Given the description of an element on the screen output the (x, y) to click on. 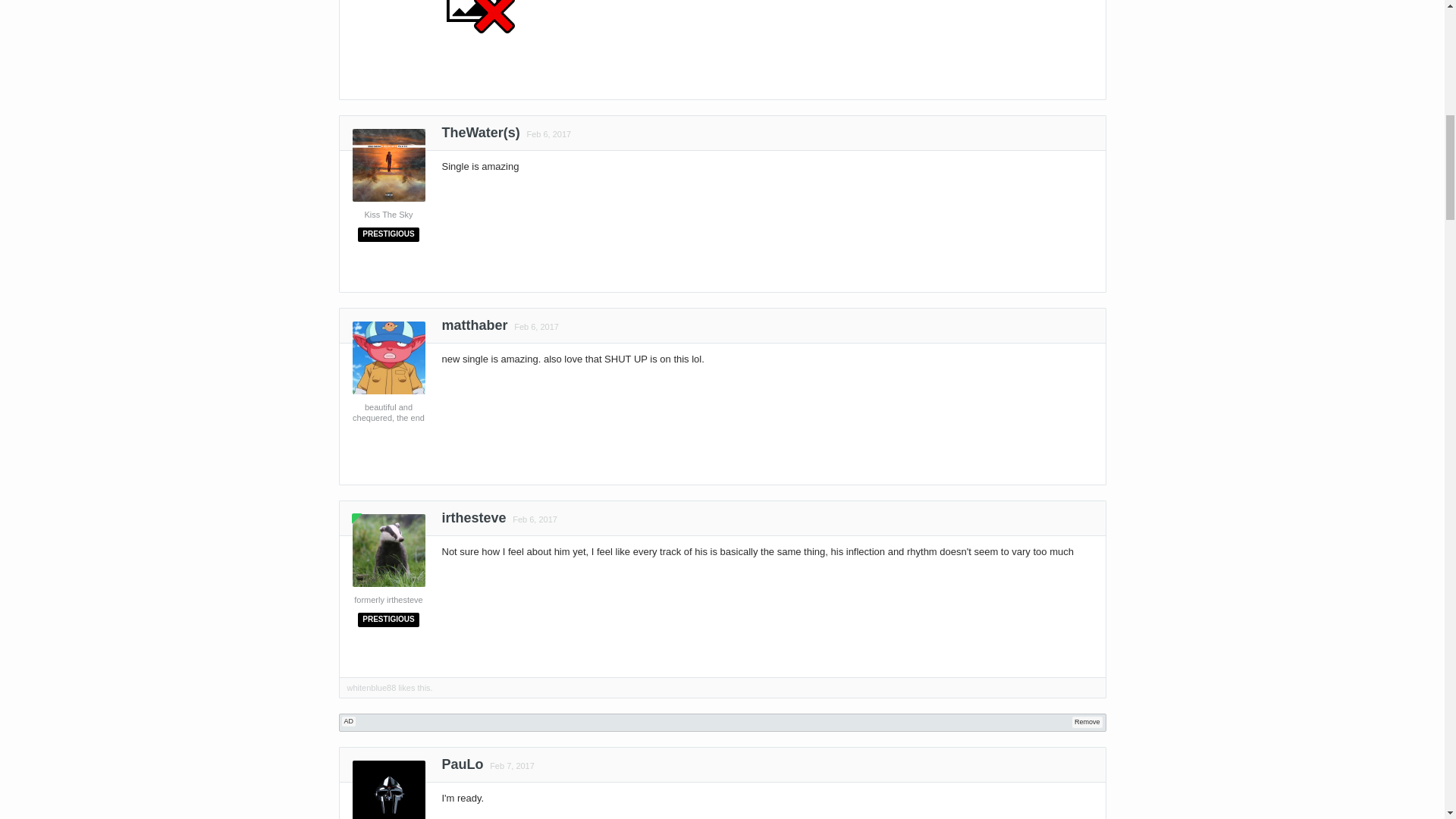
Feb 7, 2017 at 4:42 AM (511, 765)
Permalink (532, 519)
Feb 6, 2017 at 5:45 PM (547, 133)
matthaber (473, 329)
Feb 6, 2017 at 11:27 PM (534, 519)
Feb 7, 2017 (510, 765)
Feb 6, 2017 (546, 133)
whitenblue88 (371, 687)
Feb 6, 2017 (535, 326)
Permalink (546, 133)
